Given the description of an element on the screen output the (x, y) to click on. 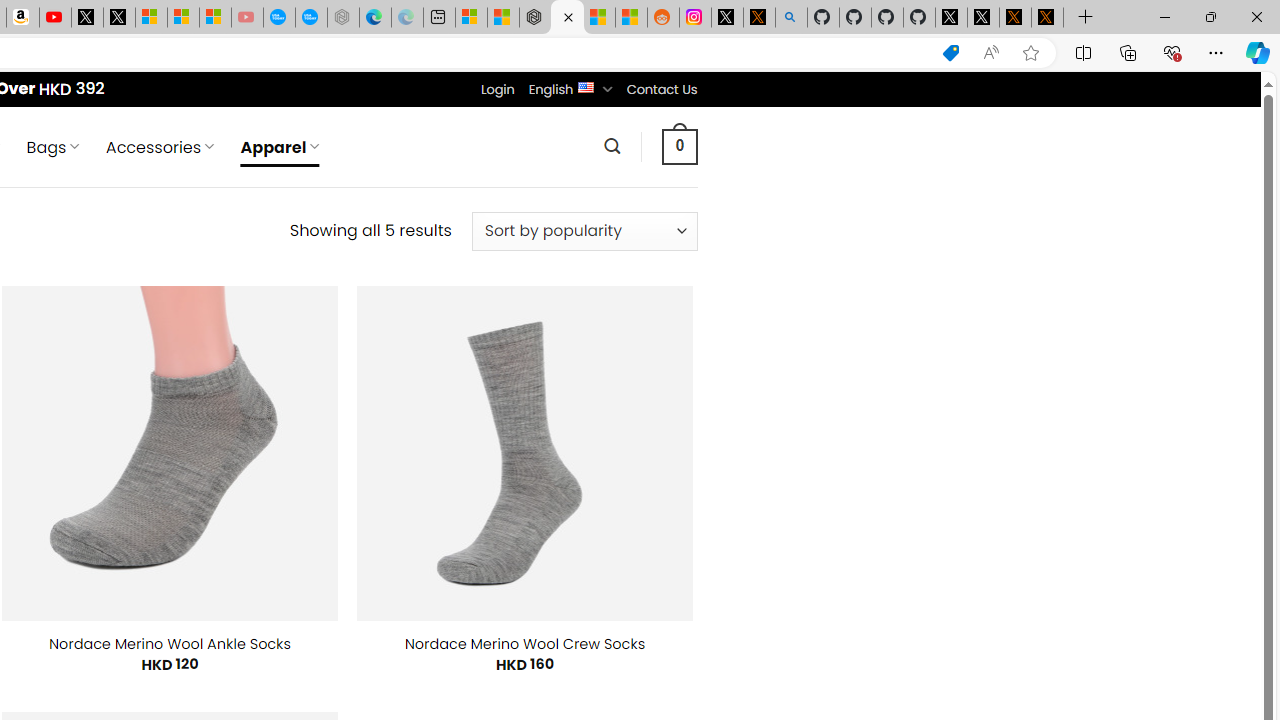
Nordace - Apparel (566, 17)
Nordace Merino Wool Crew Socks (525, 643)
Nordace Merino Wool Ankle Socks (169, 643)
Opinion: Op-Ed and Commentary - USA TODAY (279, 17)
